Given the description of an element on the screen output the (x, y) to click on. 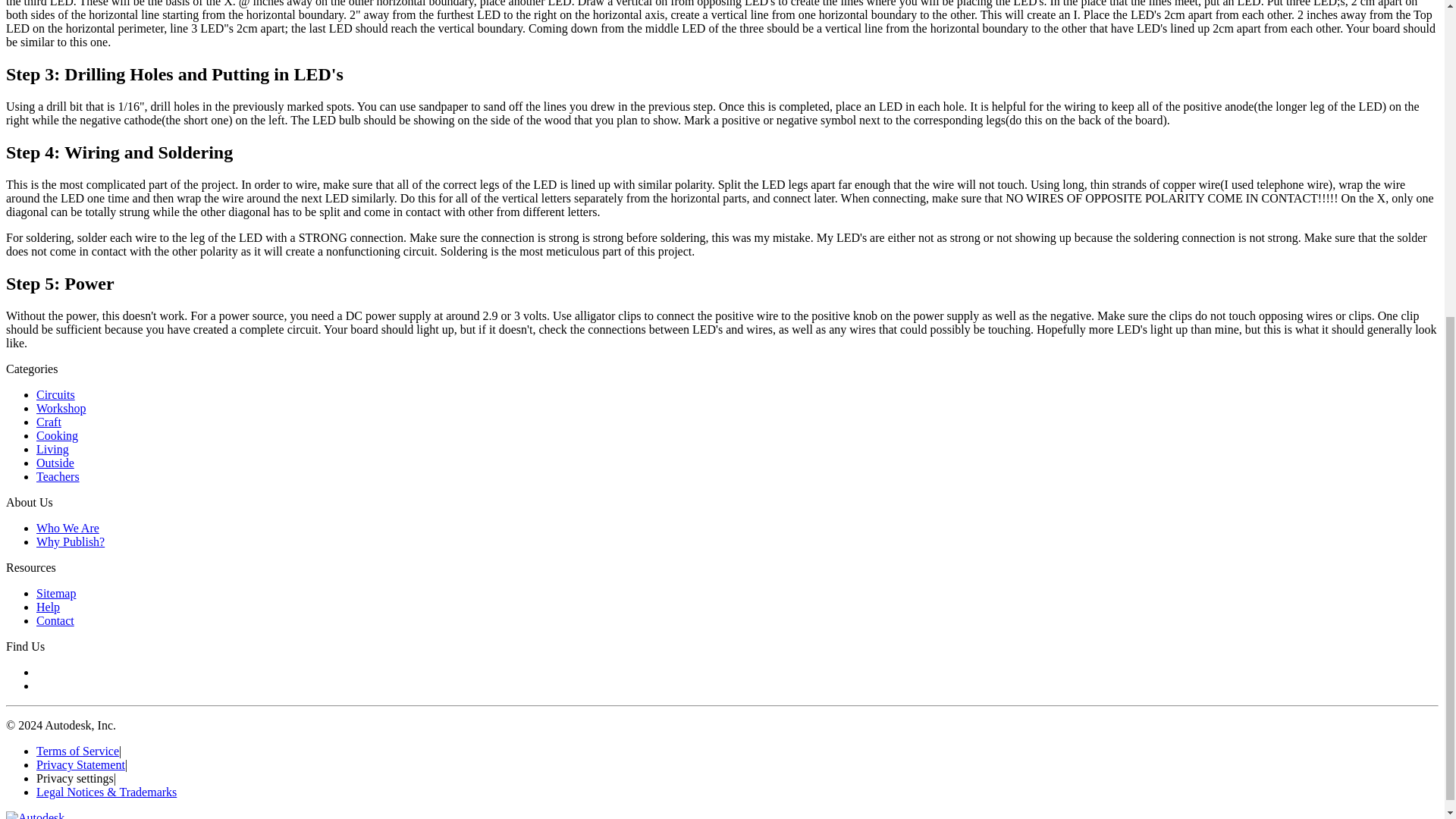
Sitemap (55, 593)
Help (47, 606)
Contact (55, 620)
Privacy settings (74, 778)
Why Publish? (70, 541)
Privacy Statement (80, 764)
Who We Are (67, 527)
Terms of Service (77, 750)
